Given the description of an element on the screen output the (x, y) to click on. 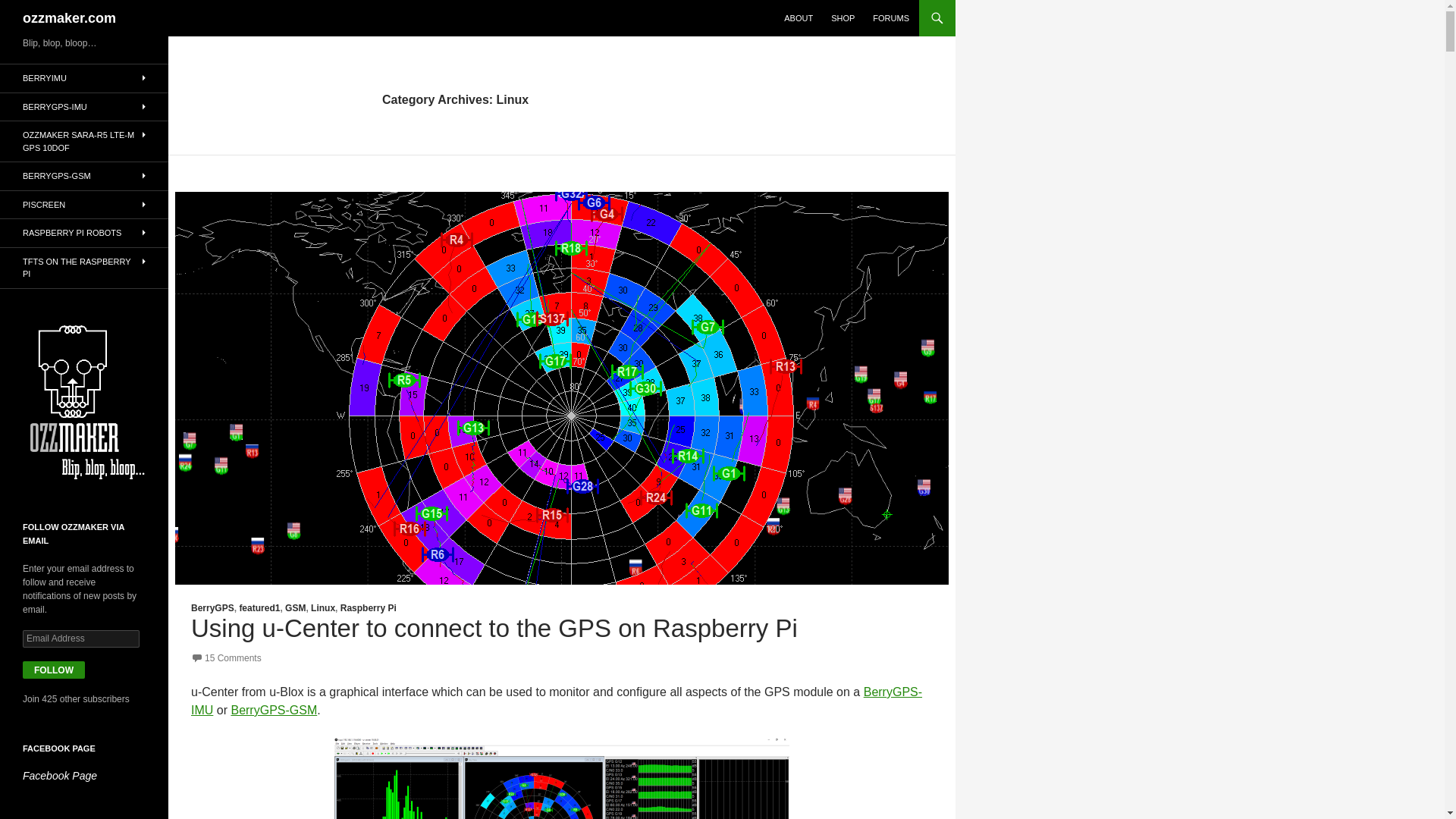
featured1 (258, 607)
GSM (295, 607)
Raspberry Pi (368, 607)
15 Comments (226, 657)
Using u-Center to connect to the GPS on Raspberry Pi (493, 628)
SHOP (842, 18)
BerryGPS-IMU (555, 700)
ABOUT (798, 18)
BerryGPS (212, 607)
Linux (322, 607)
ozzmaker.com (69, 18)
BerryGPS-GSM (273, 709)
FORUMS (890, 18)
